Given the description of an element on the screen output the (x, y) to click on. 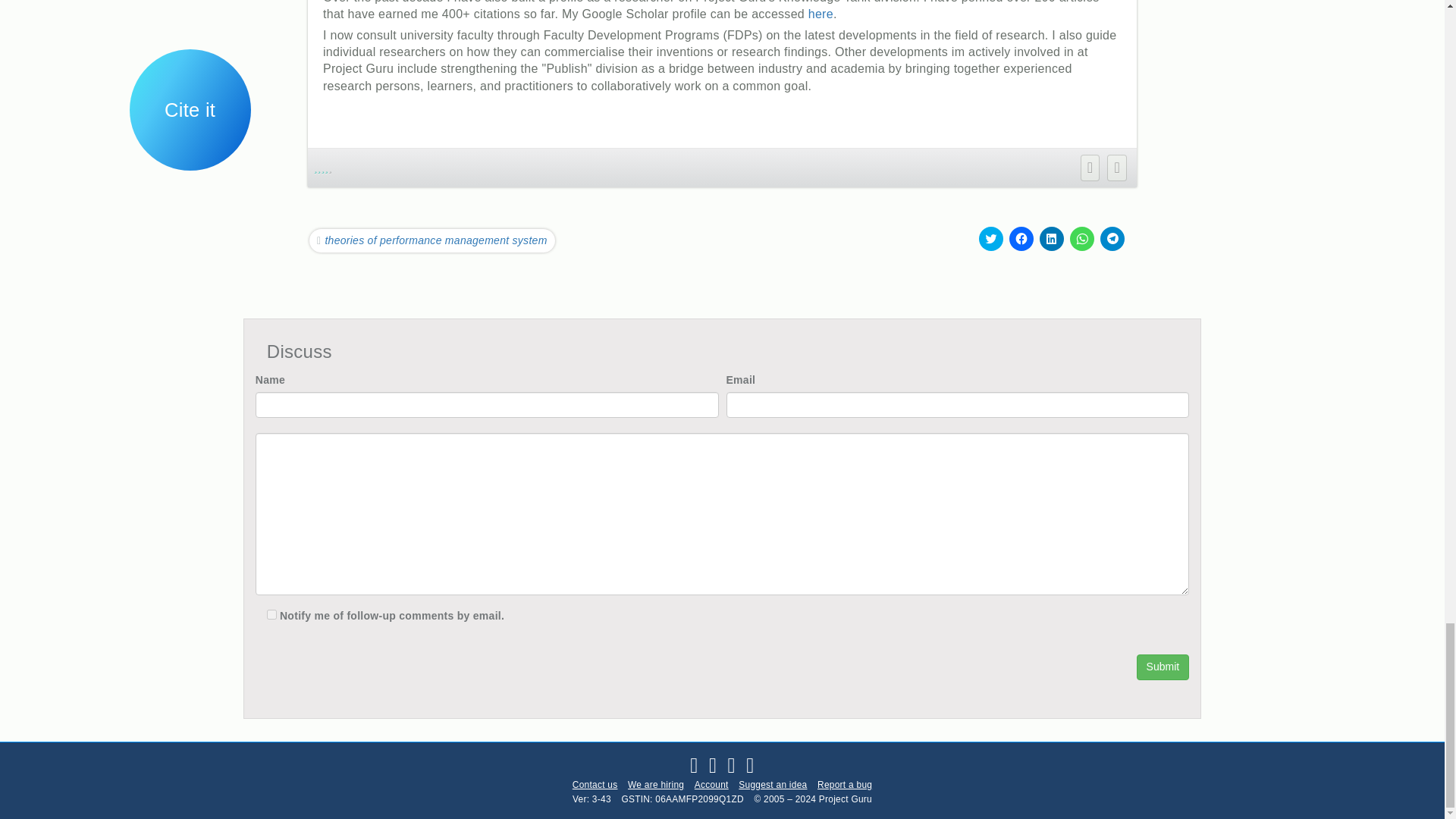
Submit (1163, 667)
subscribe (271, 614)
